Given the description of an element on the screen output the (x, y) to click on. 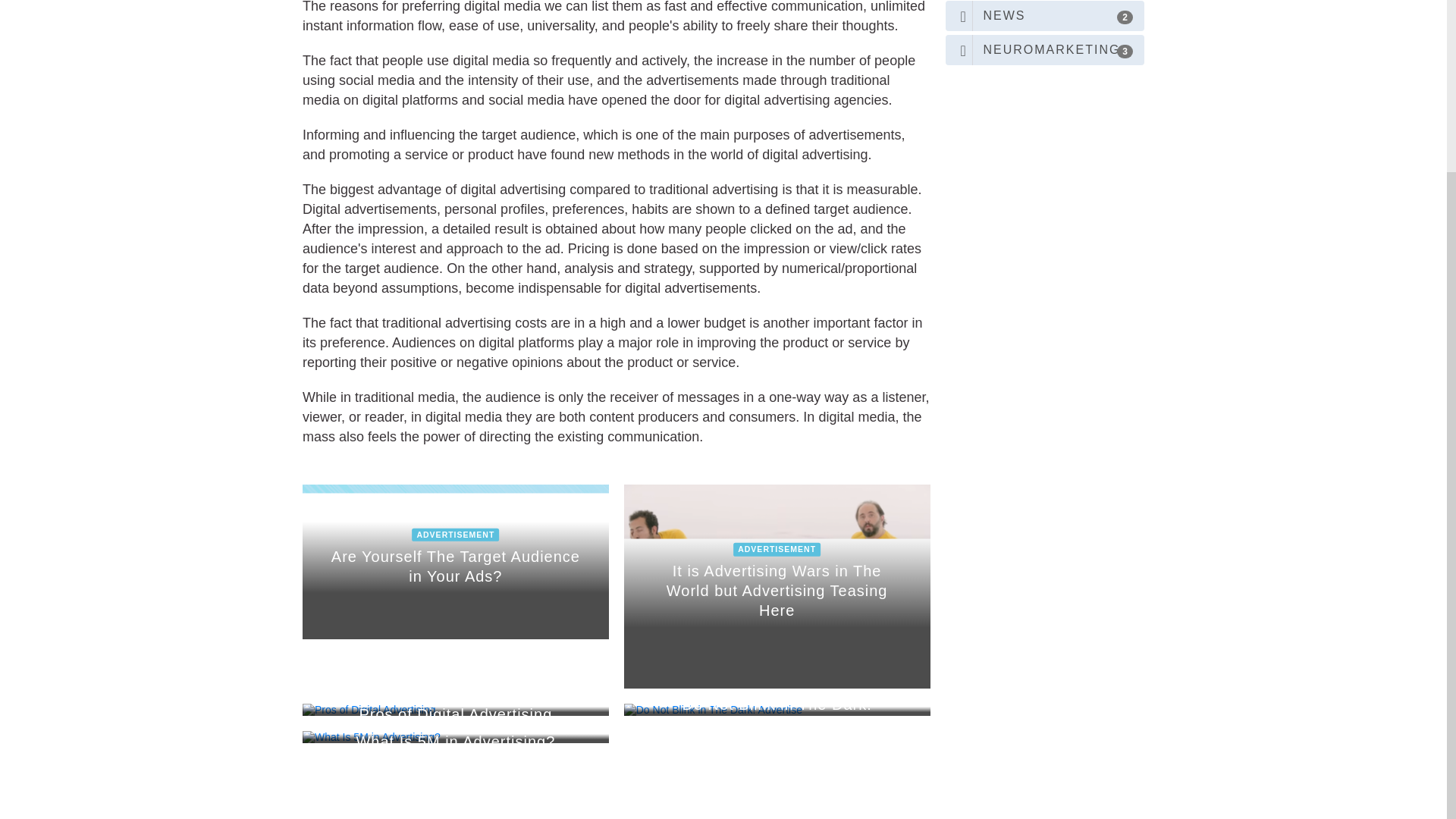
What Is 5M in Advertising? (455, 736)
NEUROMARKETING (1044, 50)
Pros of Digital Advertising (455, 709)
NEWS (1044, 15)
Are Yourself The Target Audience in Your Ads? (455, 561)
What Is 5M in Advertising? (455, 561)
Do Not Blink in The Dark! Advertise (455, 736)
Do Not Blink in The Dark! Advertise (777, 709)
Pros of Digital Advertising (777, 709)
